Given the description of an element on the screen output the (x, y) to click on. 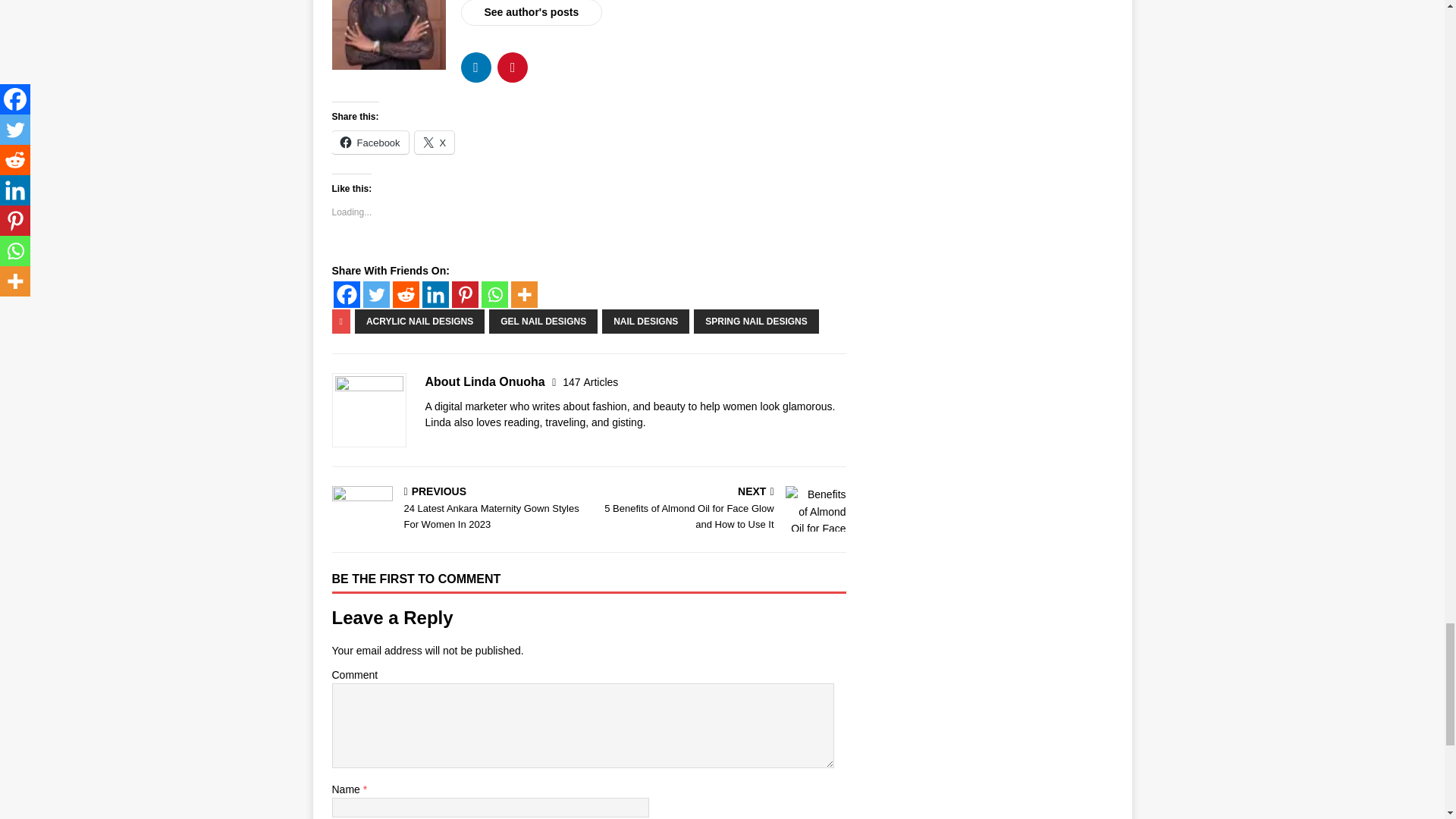
See author's posts (531, 12)
